Given the description of an element on the screen output the (x, y) to click on. 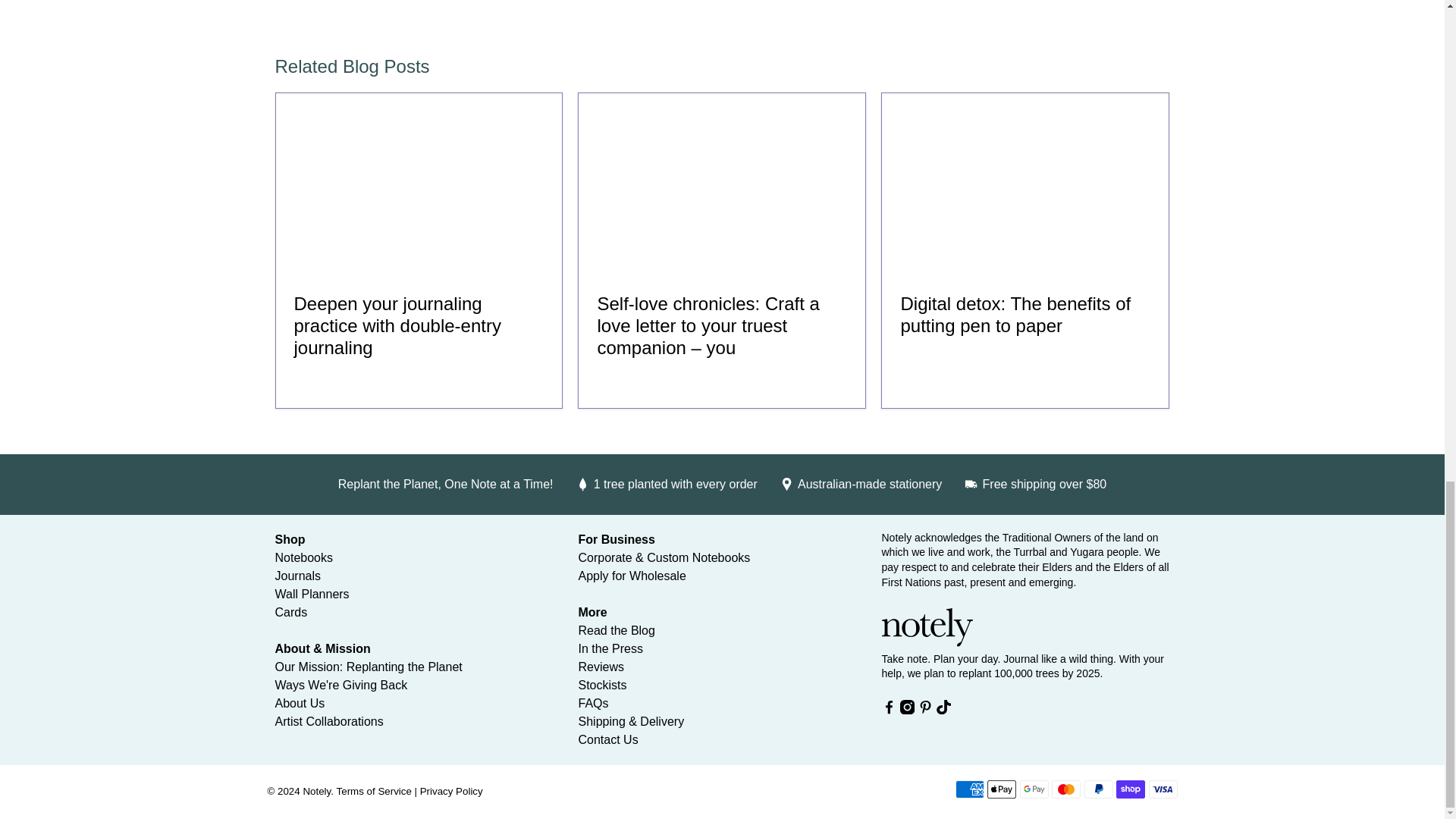
Google Pay (1034, 789)
Notely on TikTok (943, 709)
Notely on Facebook (887, 709)
Mastercard (1065, 789)
PayPal (1098, 789)
Shop Pay (1130, 789)
Visa (1162, 789)
Terms of Service (374, 790)
Deepen your journaling practice with double-entry journaling (419, 184)
Notely on Pinterest (925, 709)
American Express (969, 789)
Digital detox: The benefits of putting pen to paper (1025, 184)
Digital detox: The benefits of putting pen to paper (1015, 314)
Apple Pay (1001, 789)
Deepen your journaling practice with double-entry journaling (397, 325)
